Given the description of an element on the screen output the (x, y) to click on. 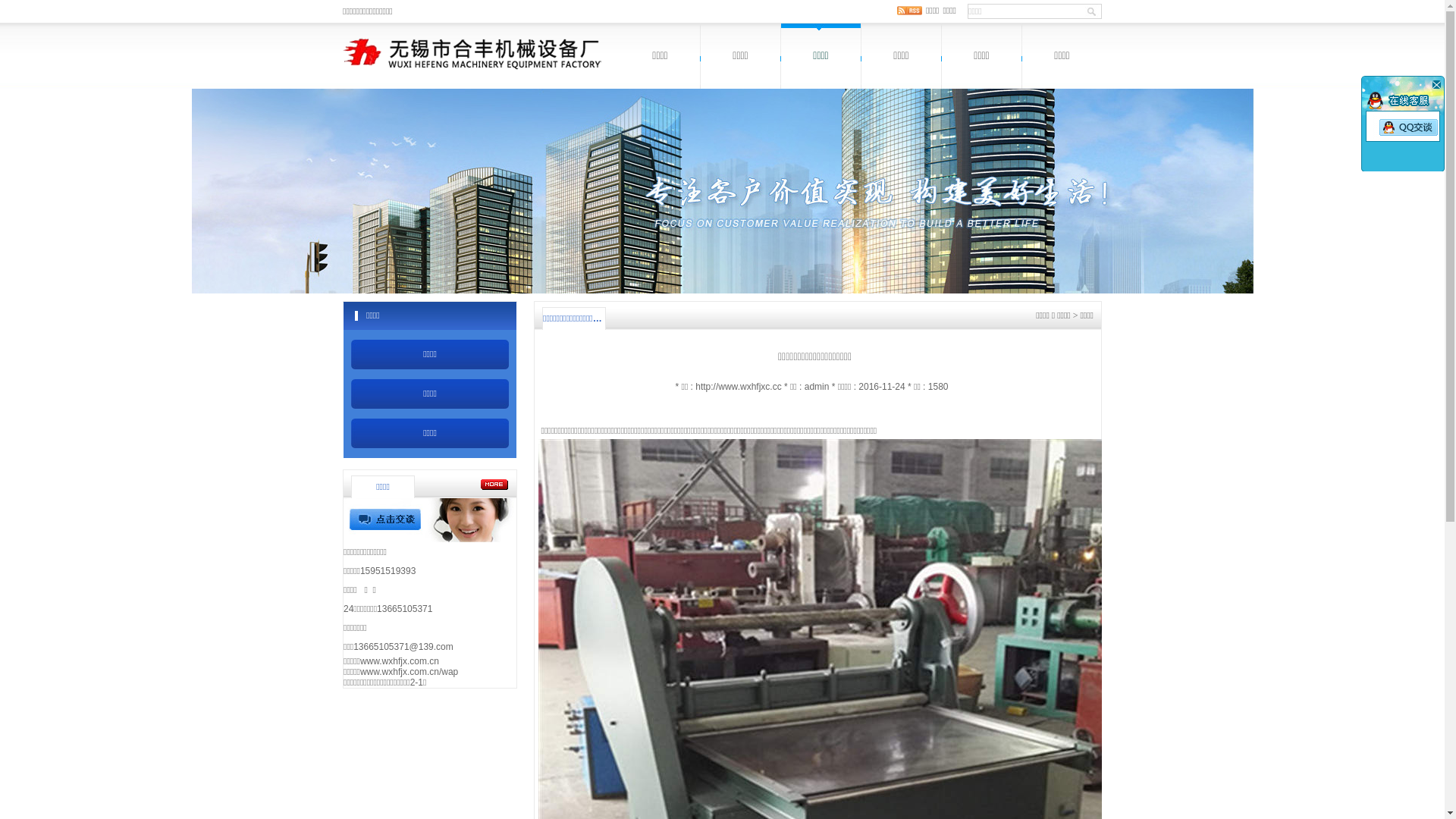
www.wxhfjx.com.cn Element type: text (399, 660)
www.wxhfjx.com.cn/wap Element type: text (409, 671)
  Element type: text (1435, 84)
